Given the description of an element on the screen output the (x, y) to click on. 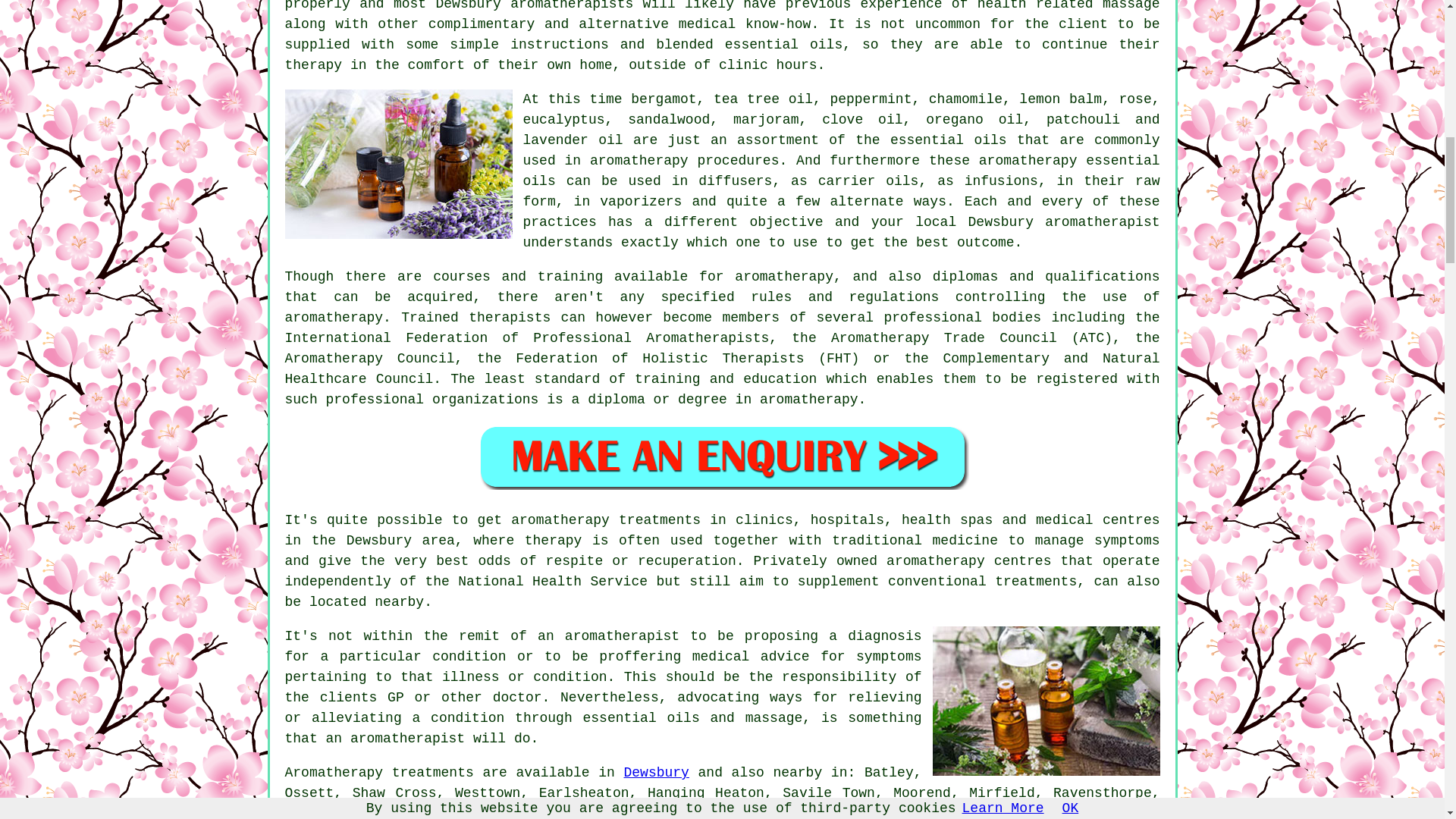
chamomile (965, 99)
marjoram (765, 119)
massage (1131, 5)
bergamot (662, 99)
Aromatherapists Dewsbury, West Yorkshire (398, 164)
